Given the description of an element on the screen output the (x, y) to click on. 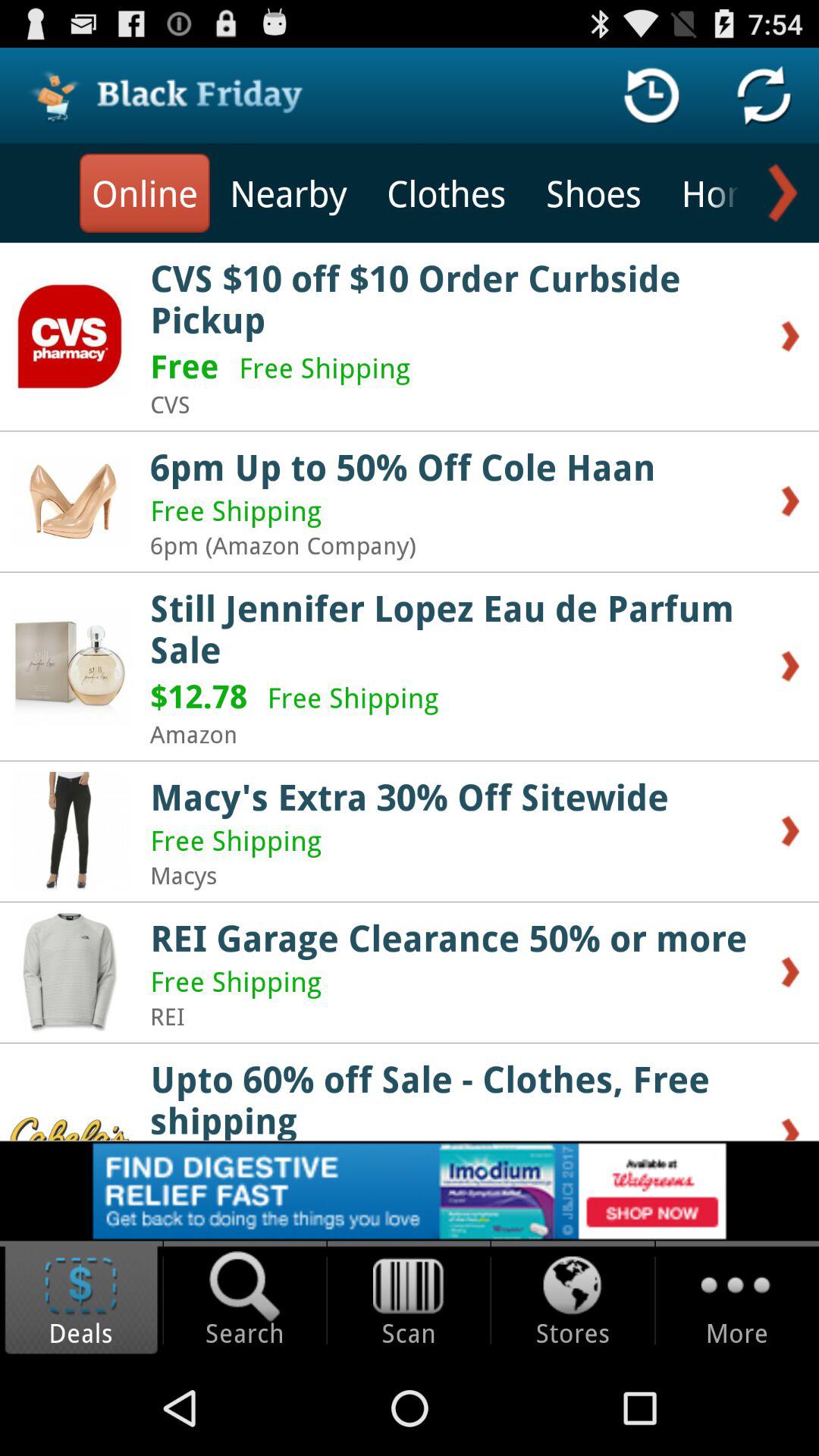
advertisement (409, 1191)
